Given the description of an element on the screen output the (x, y) to click on. 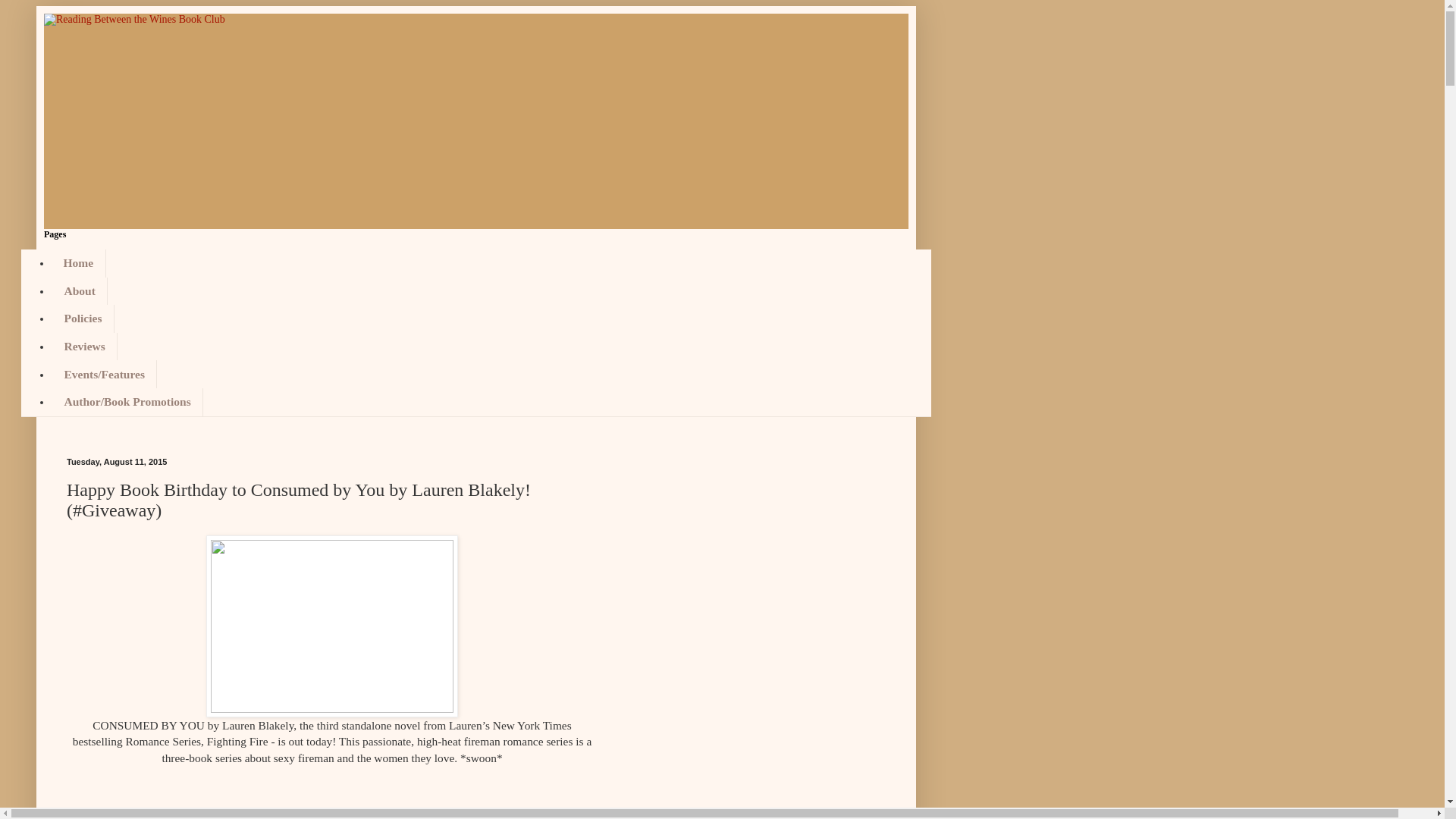
Home (78, 263)
About (78, 291)
Policies (82, 318)
Reviews (83, 346)
